Given the description of an element on the screen output the (x, y) to click on. 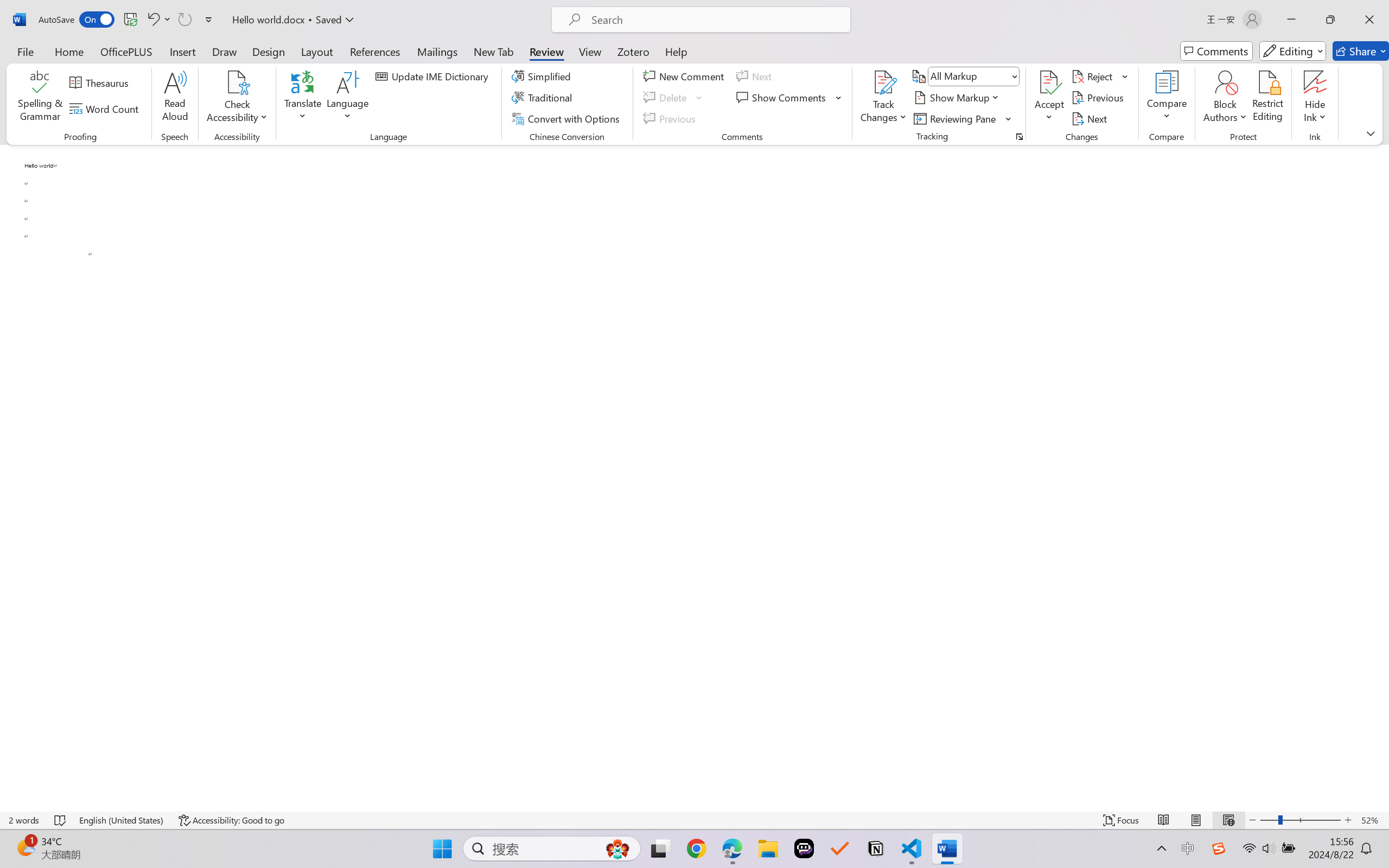
Customize Quick Access Toolbar (208, 19)
